Given the description of an element on the screen output the (x, y) to click on. 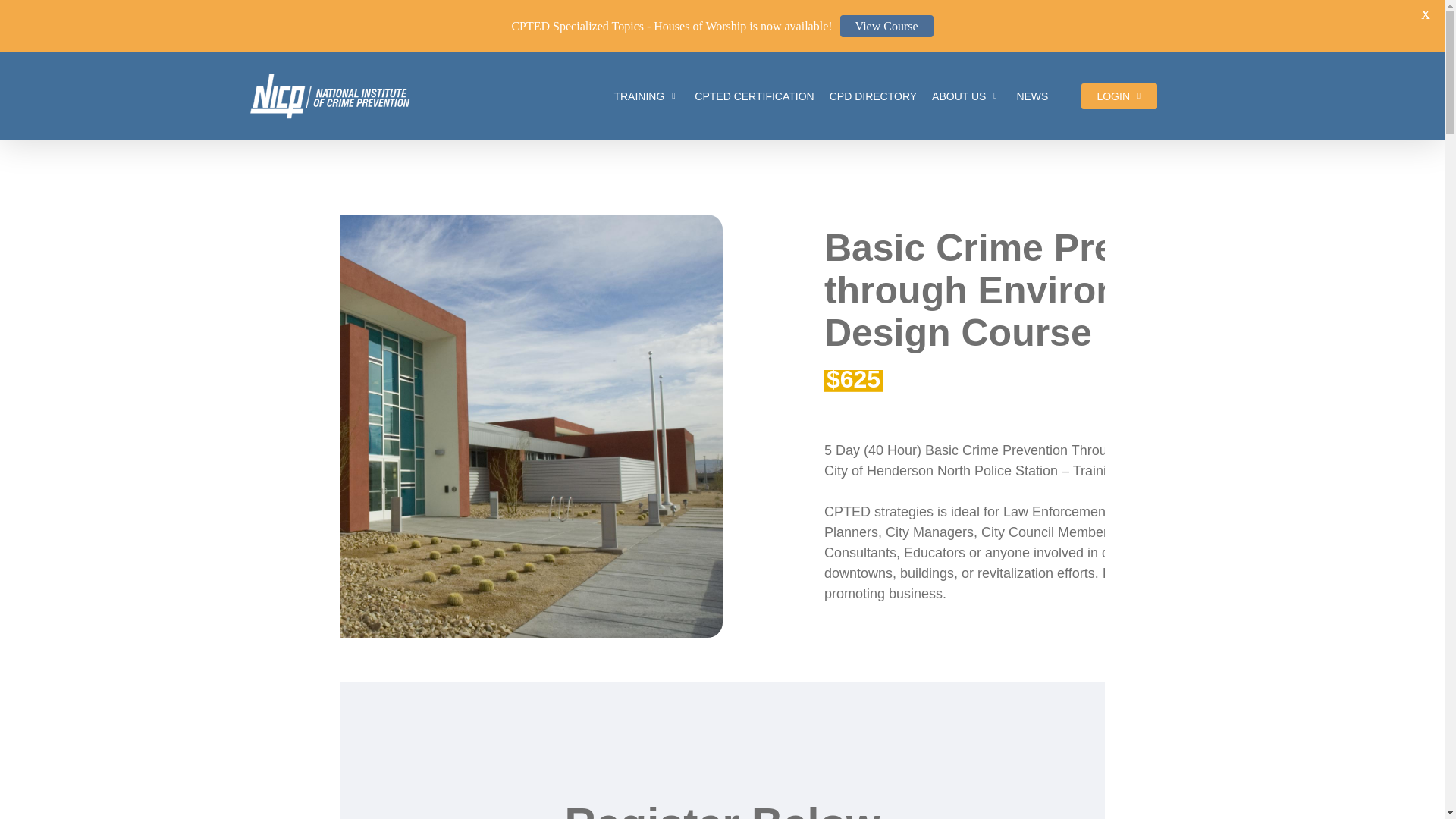
TRAINING (645, 95)
CPD DIRECTORY (873, 95)
NEWS (1032, 95)
CPTED CERTIFICATION (753, 95)
ABOUT US (966, 95)
LOGIN (1118, 95)
0 (1210, 103)
